Given the description of an element on the screen output the (x, y) to click on. 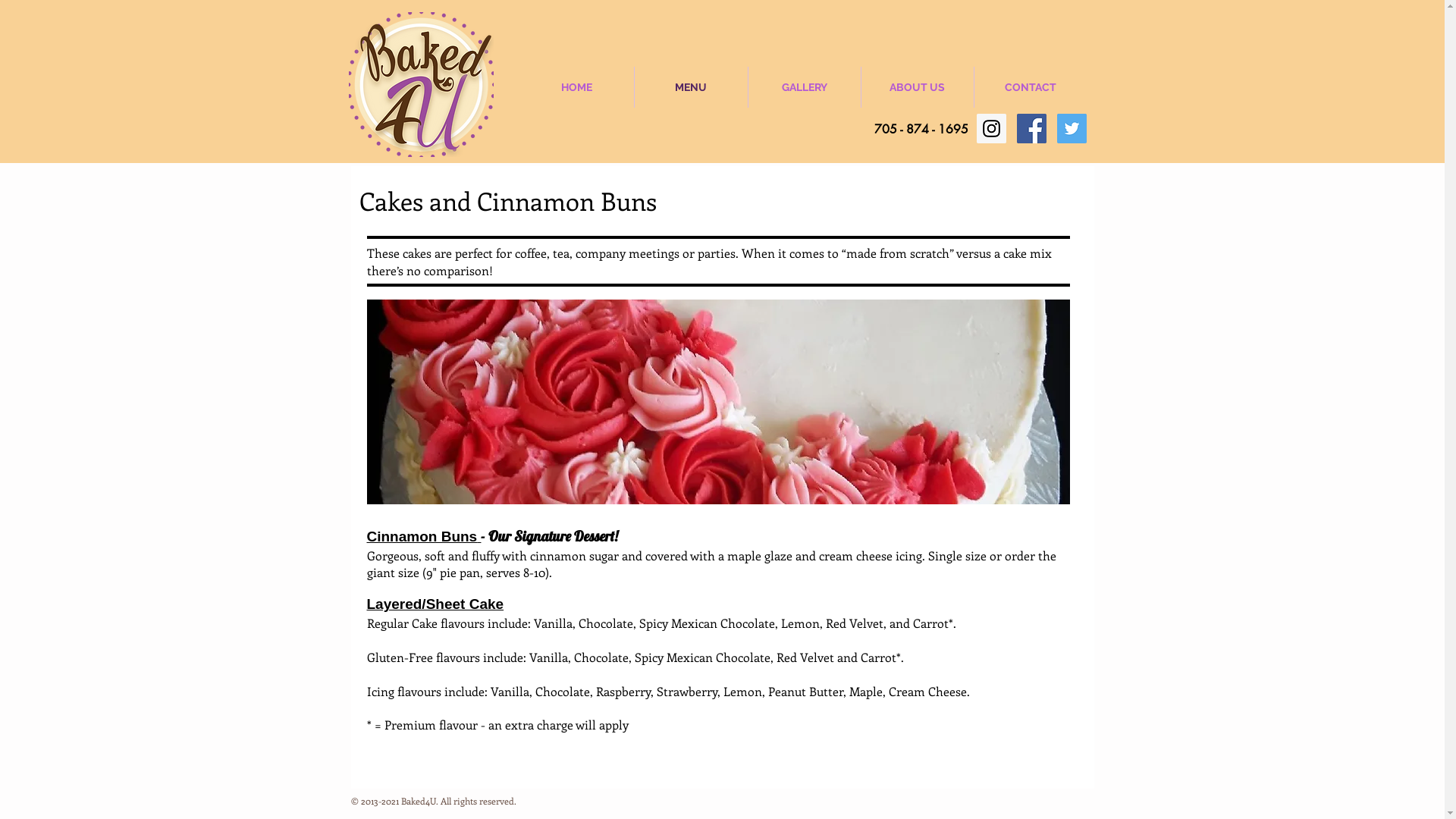
CONTACT Element type: text (1029, 86)
ABOUT US Element type: text (917, 86)
HOME Element type: text (576, 86)
MENU Element type: text (689, 86)
GALLERY Element type: text (803, 86)
